Given the description of an element on the screen output the (x, y) to click on. 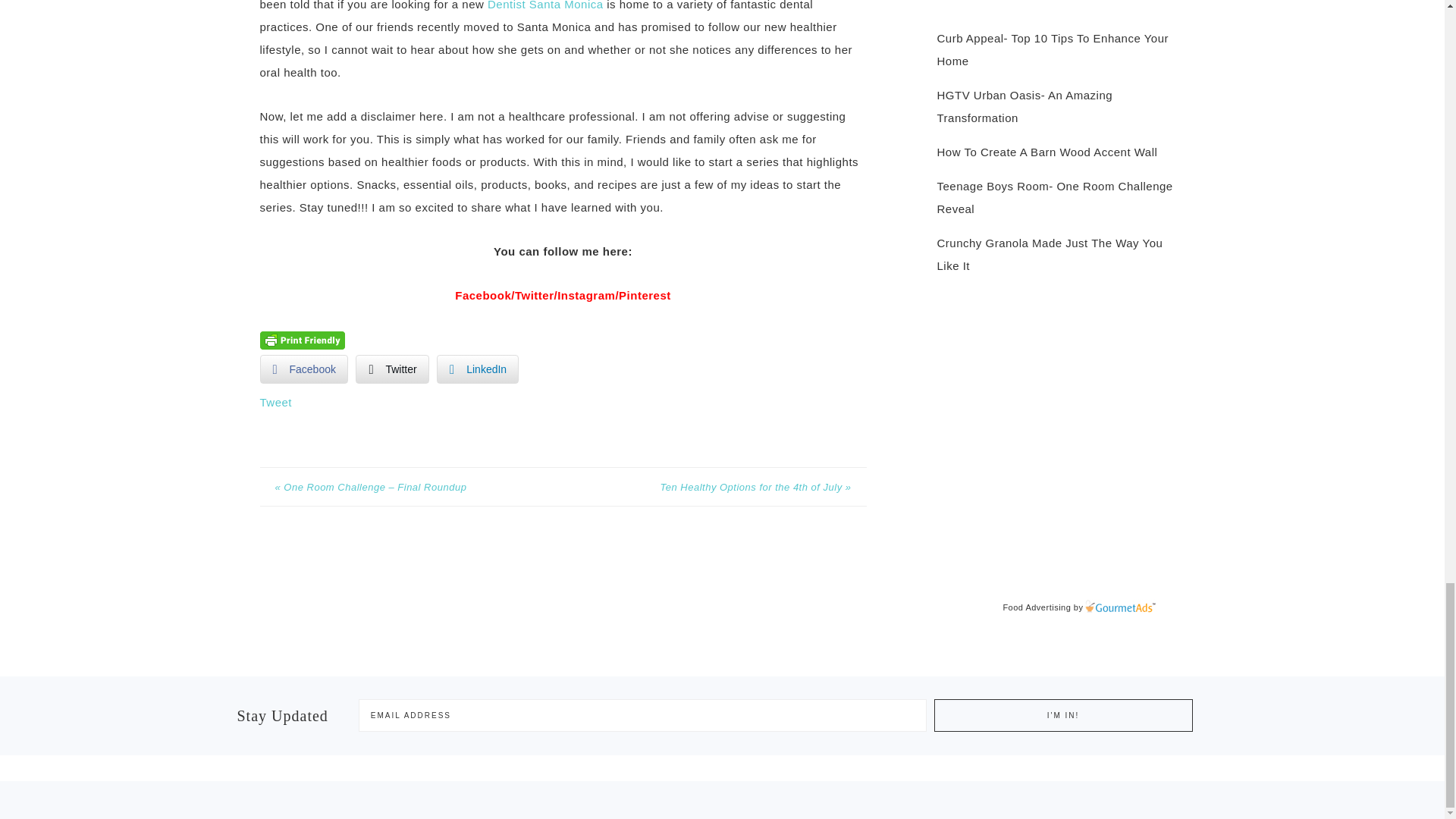
Tweet (275, 401)
Pinterest (644, 295)
Food Advertising (1036, 606)
Facebook (303, 369)
I'm In! (1063, 715)
LinkedIn (477, 369)
Dentist Santa Monica (545, 5)
Twitter (391, 369)
Facebook (482, 295)
